Given the description of an element on the screen output the (x, y) to click on. 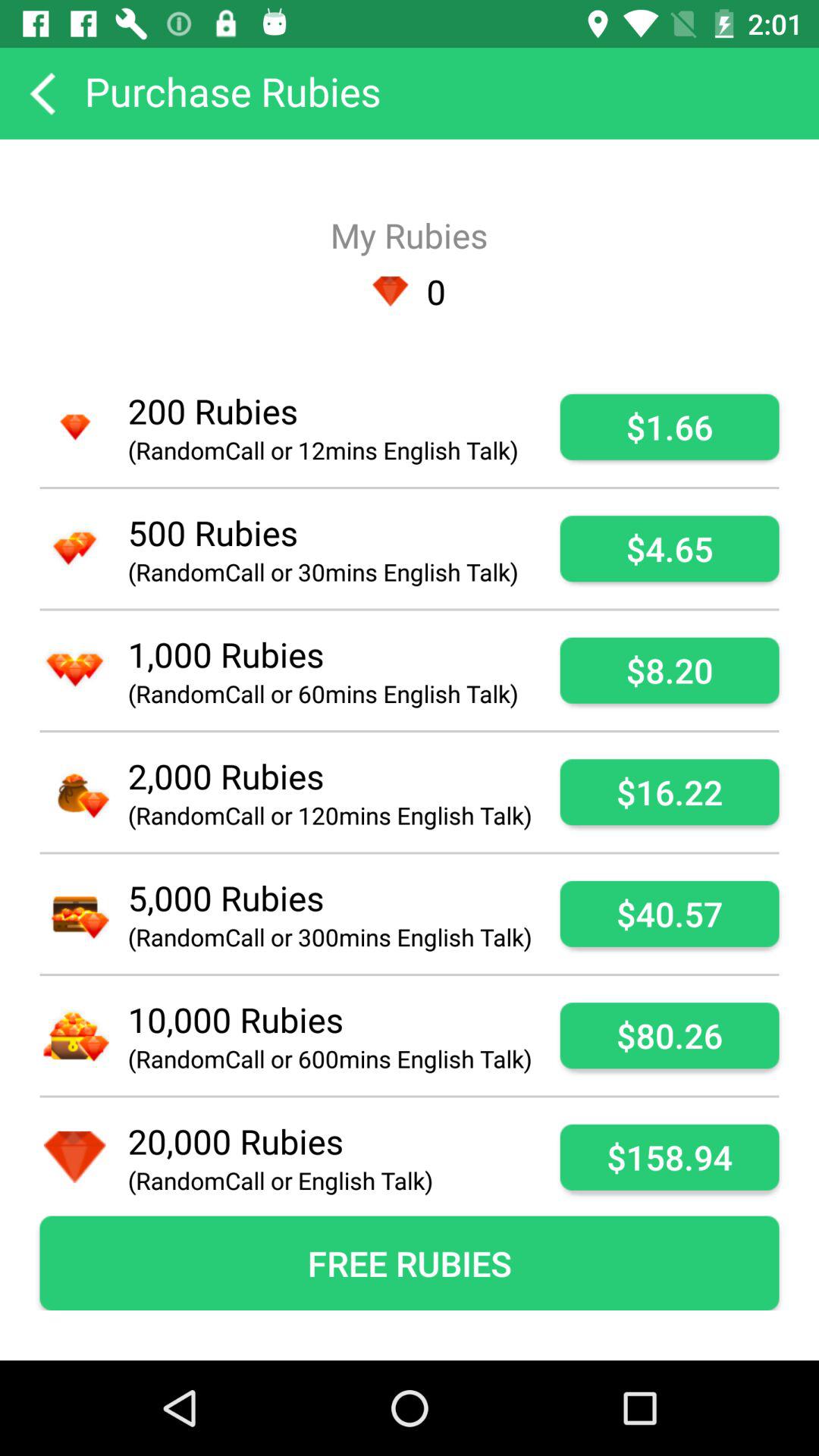
flip to the $16.22 (669, 792)
